Given the description of an element on the screen output the (x, y) to click on. 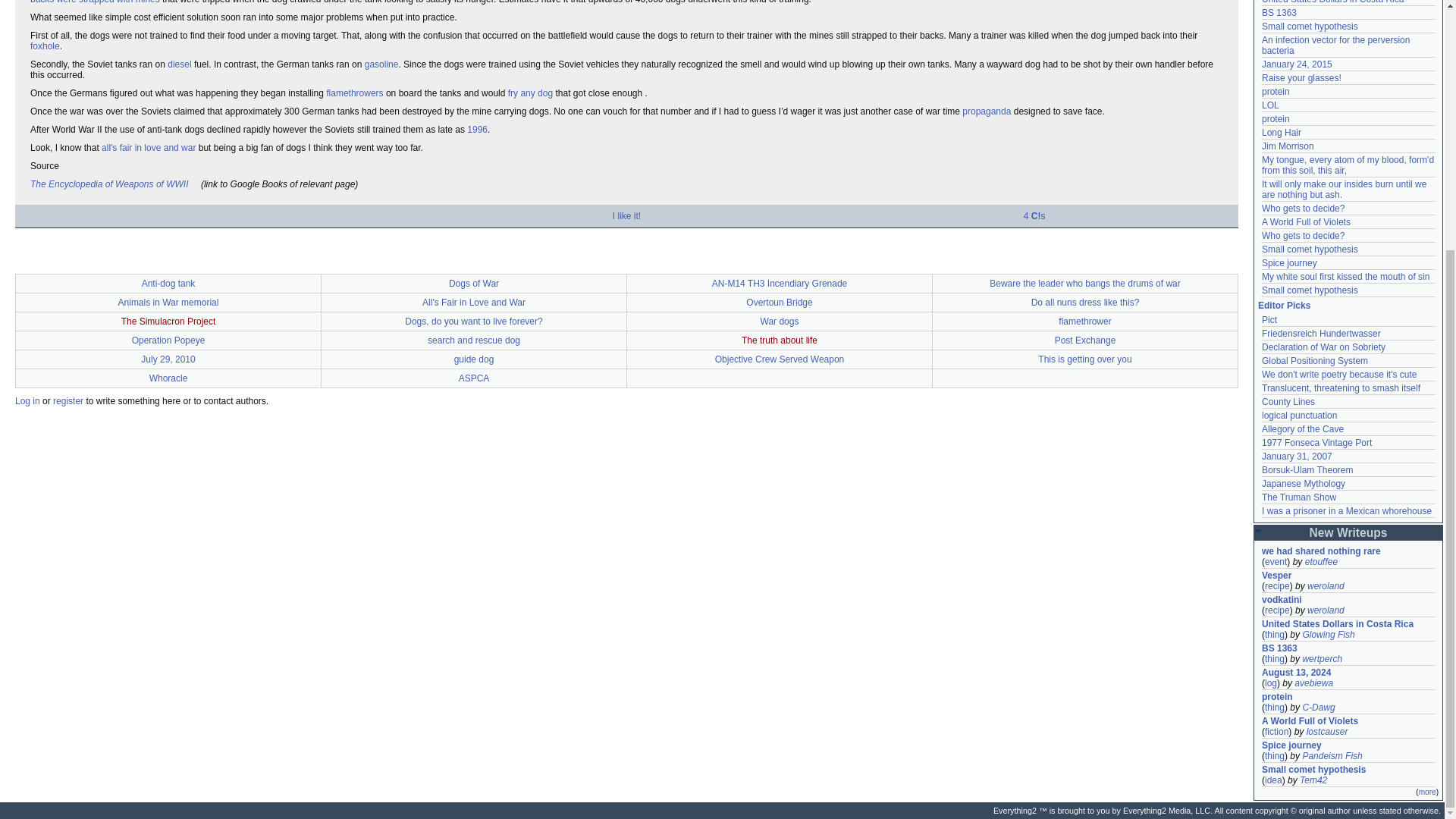
Anti-dog tank (168, 283)
1996 (477, 129)
propaganda (986, 111)
flamethrowers (354, 92)
I like it! (626, 215)
Animals in War memorial (168, 302)
Beware the leader who bangs the drums of war (1084, 283)
foxhole (44, 45)
gasoline (381, 63)
flamethrower (354, 92)
